Given the description of an element on the screen output the (x, y) to click on. 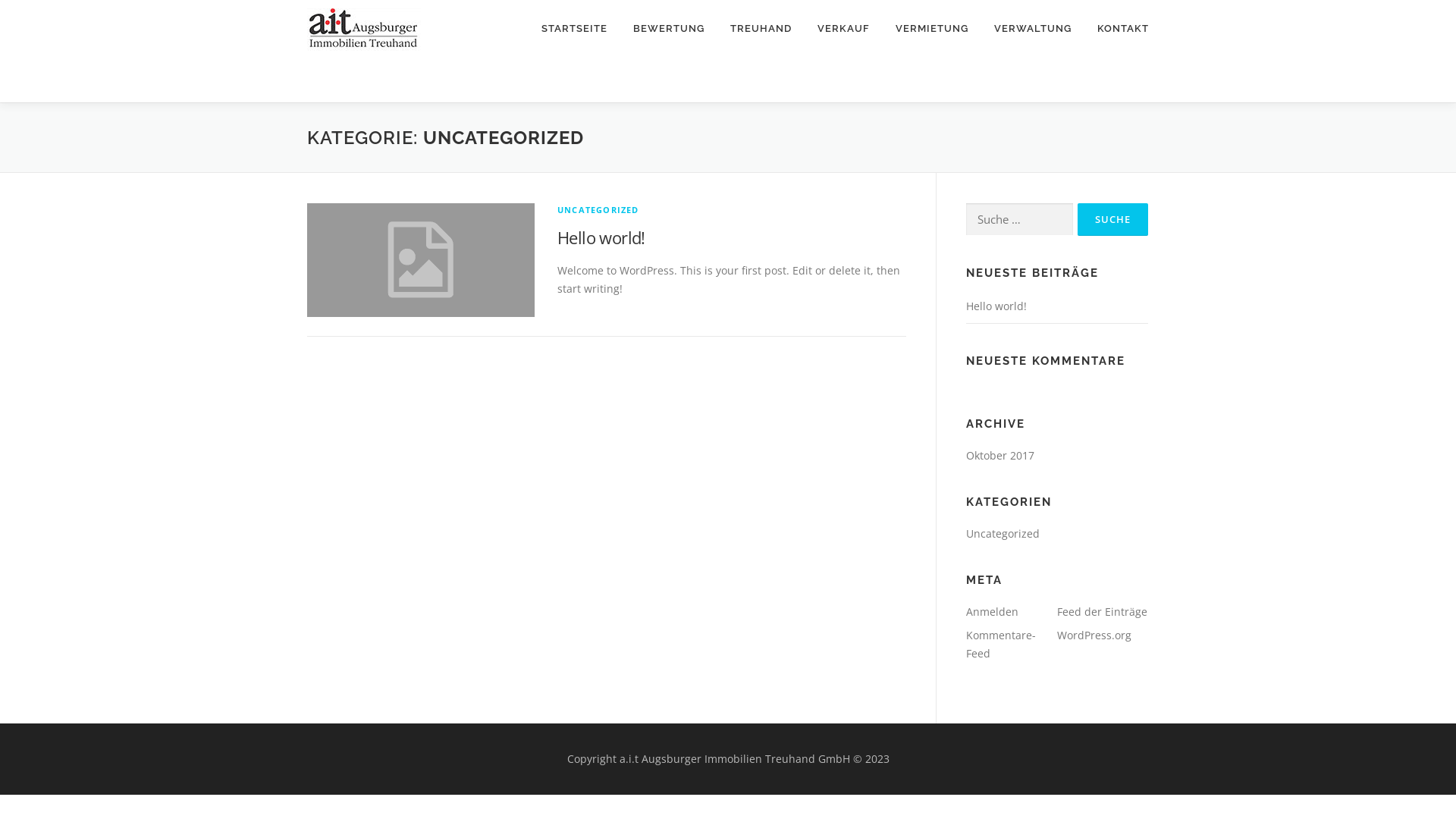
VERMIETUNG Element type: text (931, 28)
TREUHAND Element type: text (760, 28)
KONTAKT Element type: text (1116, 28)
VERWALTUNG Element type: text (1032, 28)
Uncategorized Element type: text (1002, 533)
STARTSEITE Element type: text (574, 28)
Anmelden Element type: text (992, 611)
Hello world! Element type: text (996, 305)
UNCATEGORIZED Element type: text (598, 209)
Oktober 2017 Element type: text (1000, 455)
VERKAUF Element type: text (843, 28)
Suche Element type: text (1112, 219)
Hello world! Element type: text (601, 236)
Kommentare-Feed Element type: text (1000, 643)
BEWERTUNG Element type: text (668, 28)
WordPress.org Element type: text (1094, 634)
